Given the description of an element on the screen output the (x, y) to click on. 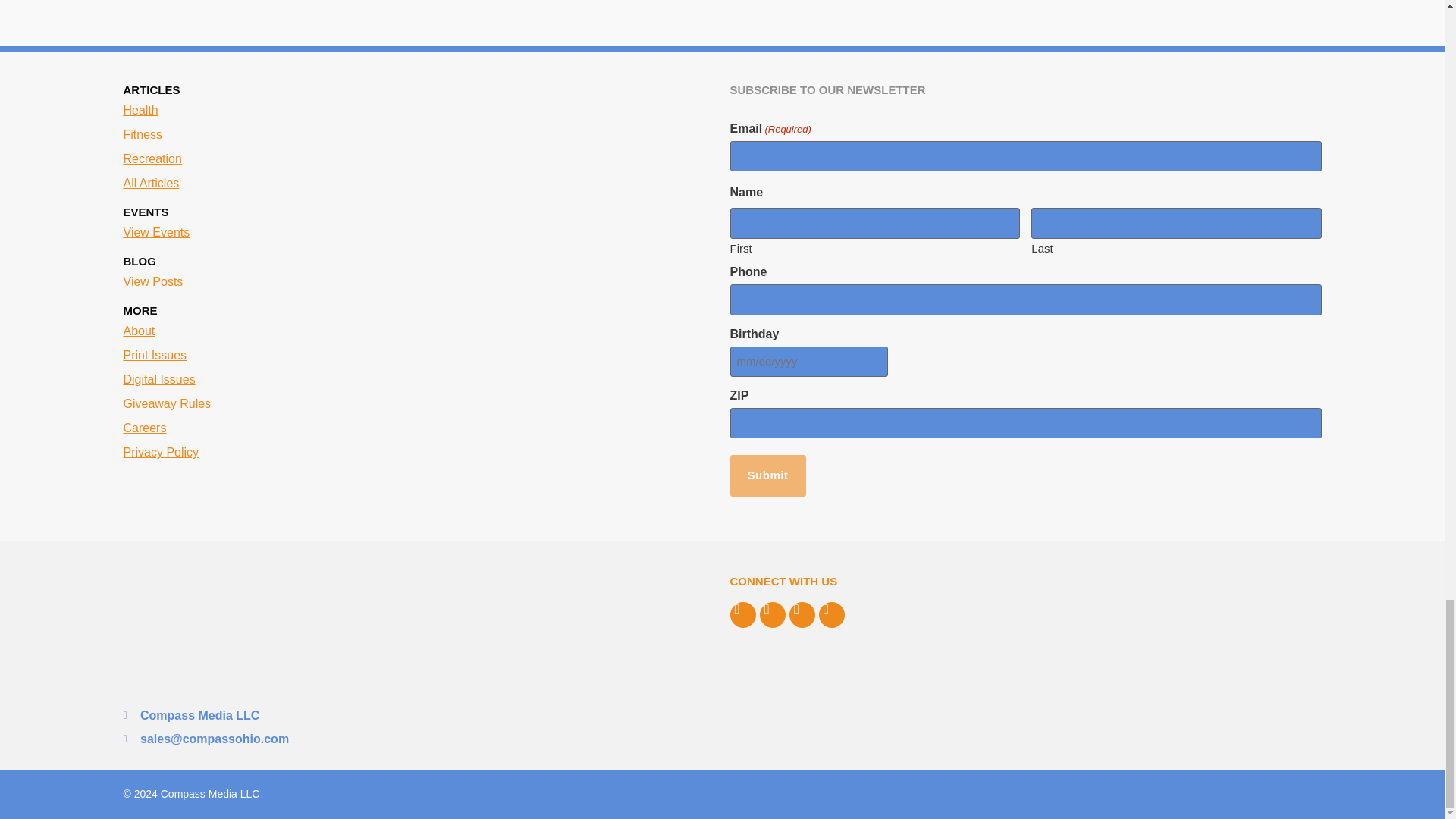
Submit (767, 475)
